Given the description of an element on the screen output the (x, y) to click on. 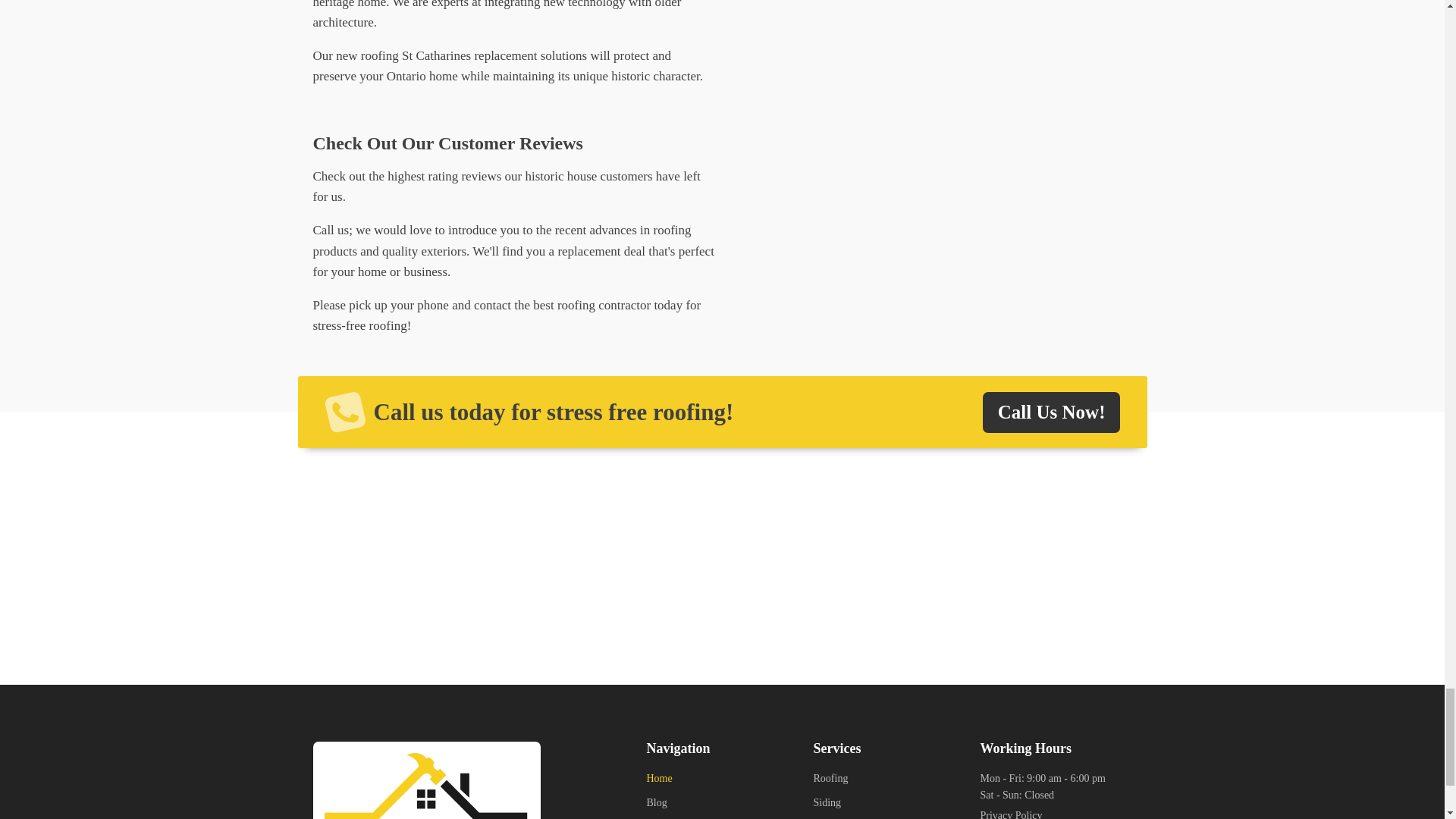
Privacy Policy (1010, 813)
Siding (829, 806)
Blog (670, 806)
Home (670, 782)
Roofing (829, 782)
Call Us Now! (1051, 412)
